Given the description of an element on the screen output the (x, y) to click on. 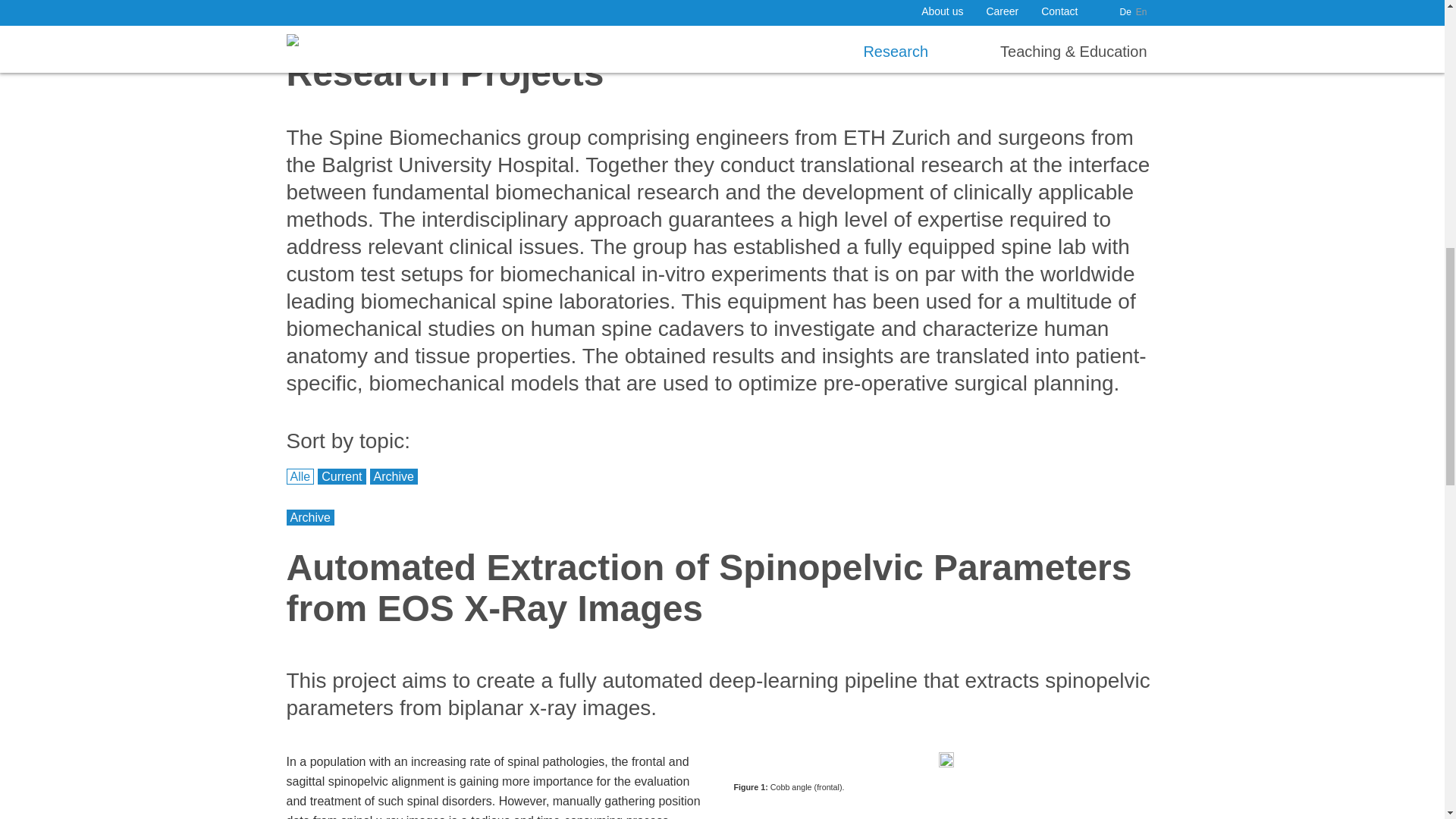
Research (439, 26)
Alle (300, 476)
Current (341, 476)
Current (341, 476)
Archive (393, 476)
Spine Biomechanics (341, 26)
Archive (393, 476)
